Given the description of an element on the screen output the (x, y) to click on. 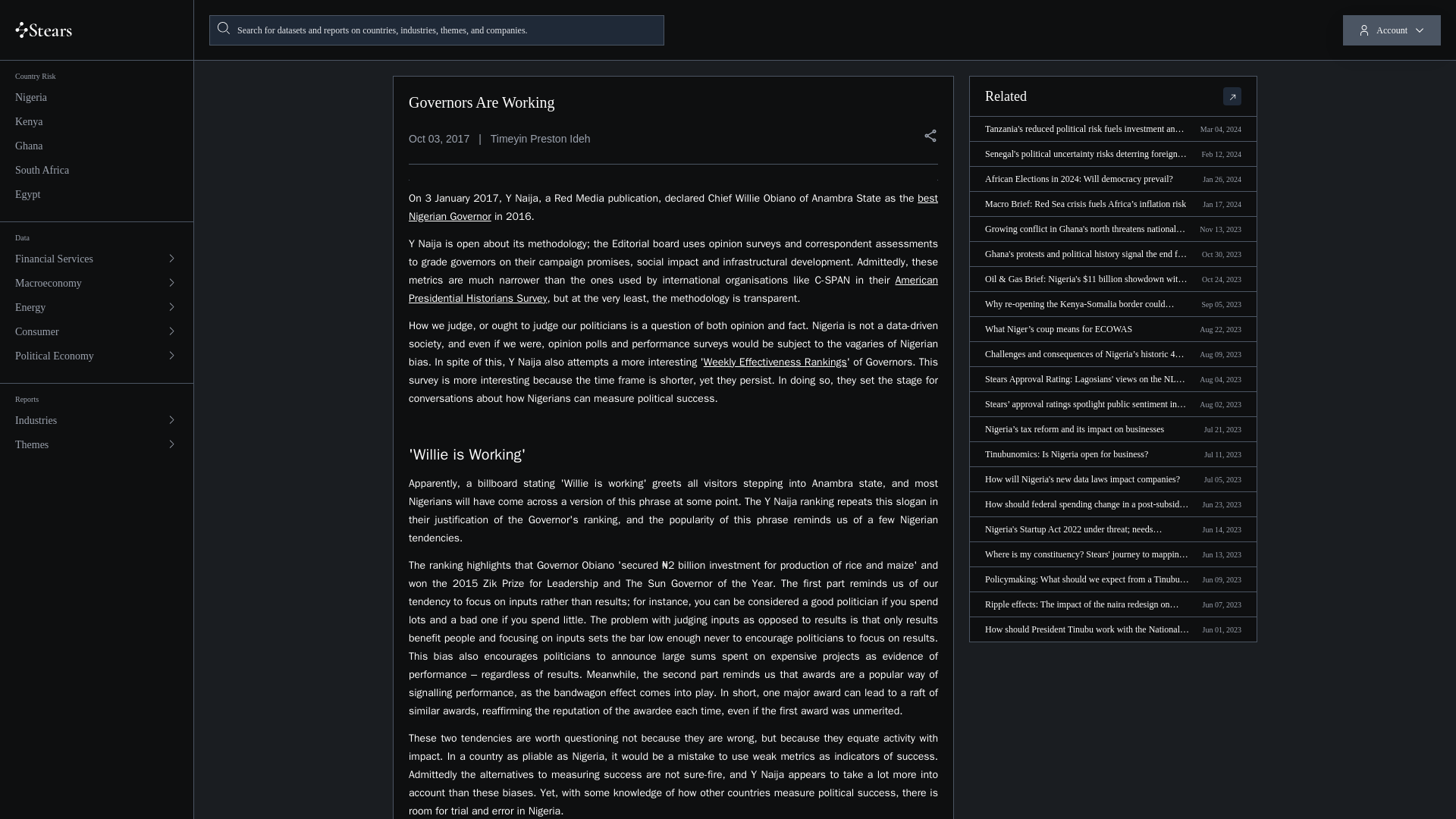
Account (1391, 30)
Weekly Effectiveness Rankings (775, 360)
Kenya (96, 120)
African Elections in 2024: Will democracy prevail? (1112, 178)
South Africa (96, 169)
American Presidential Historians Survey (673, 287)
Egypt (96, 193)
Tinubunomics: Is Nigeria open for business? (1112, 454)
